Given the description of an element on the screen output the (x, y) to click on. 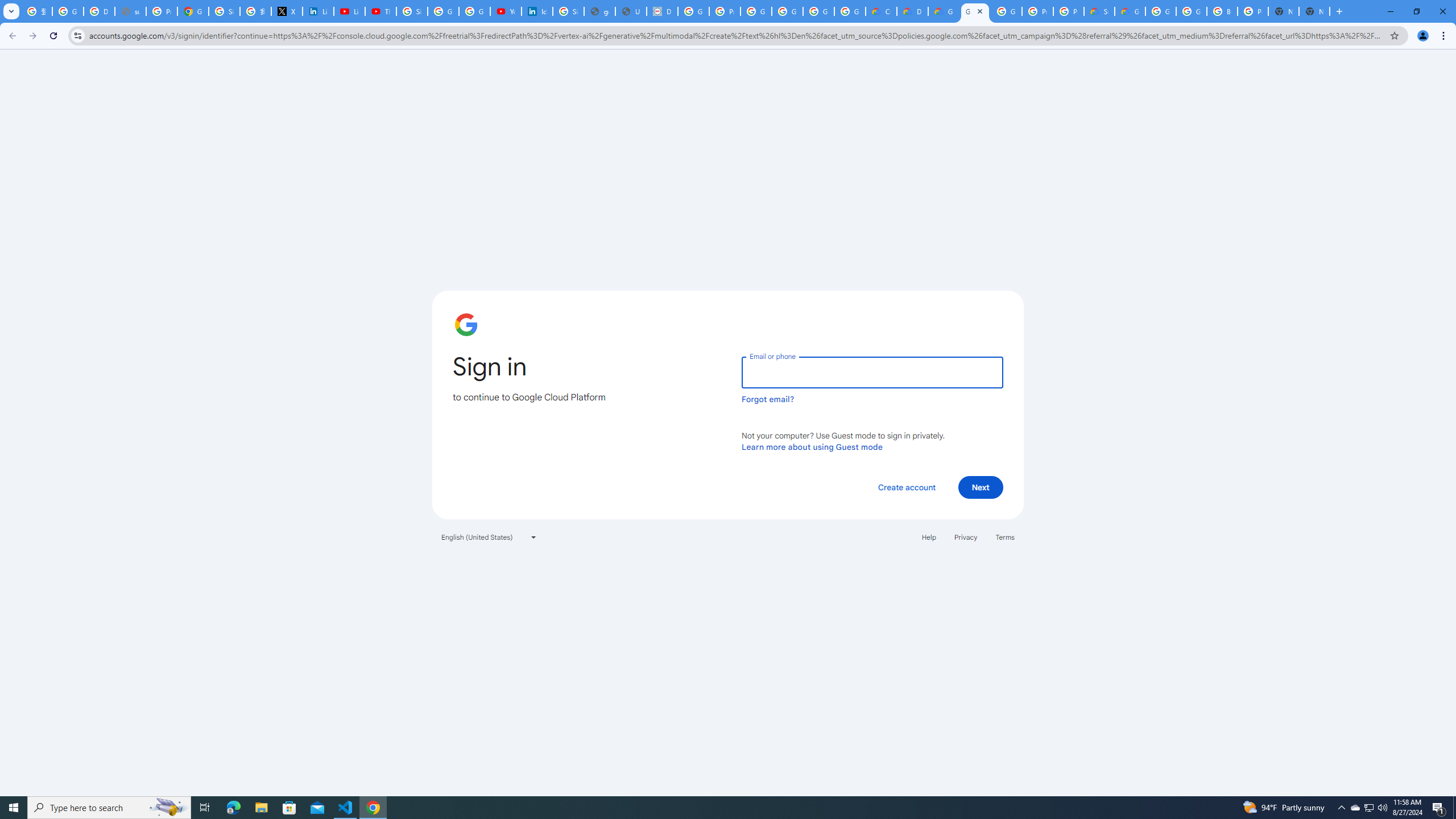
Gemini for Business and Developers | Google Cloud (943, 11)
Email or phone (871, 372)
Sign in - Google Accounts (411, 11)
LinkedIn - YouTube (349, 11)
Data Privacy Framework (662, 11)
